Given the description of an element on the screen output the (x, y) to click on. 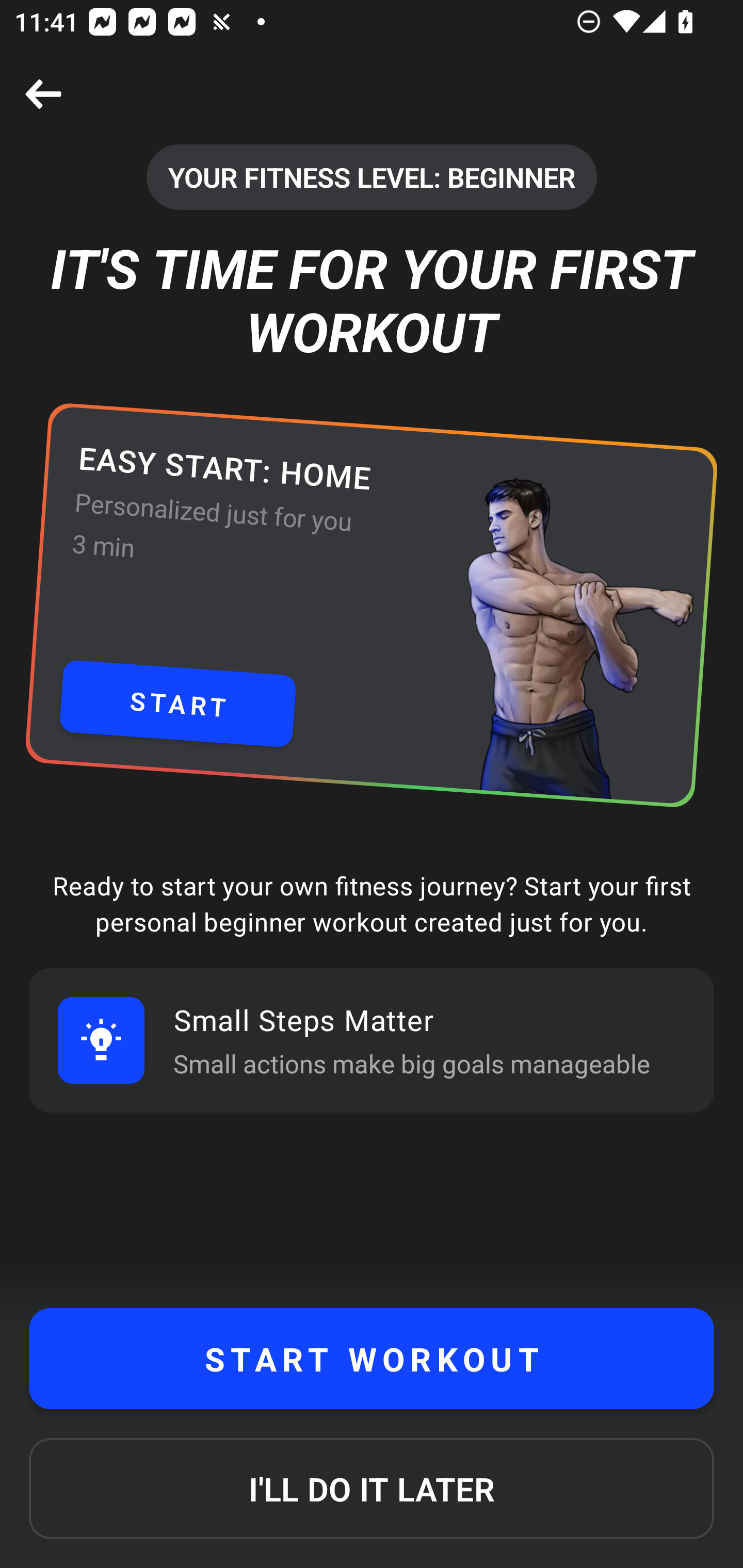
Close screen (43, 93)
START (177, 703)
START WORKOUT (371, 1358)
I'LL DO IT LATER (371, 1488)
